Given the description of an element on the screen output the (x, y) to click on. 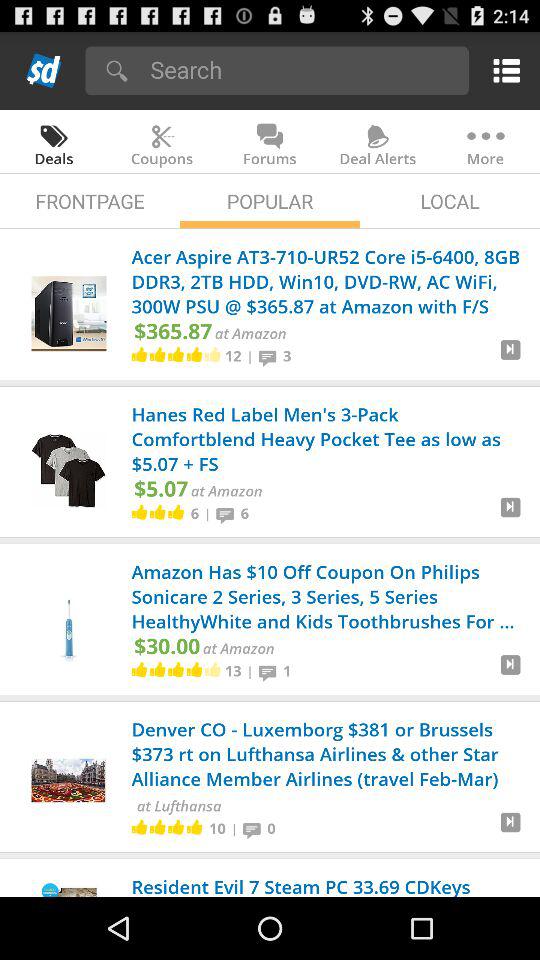
turn off the icon next to 12 item (249, 355)
